Given the description of an element on the screen output the (x, y) to click on. 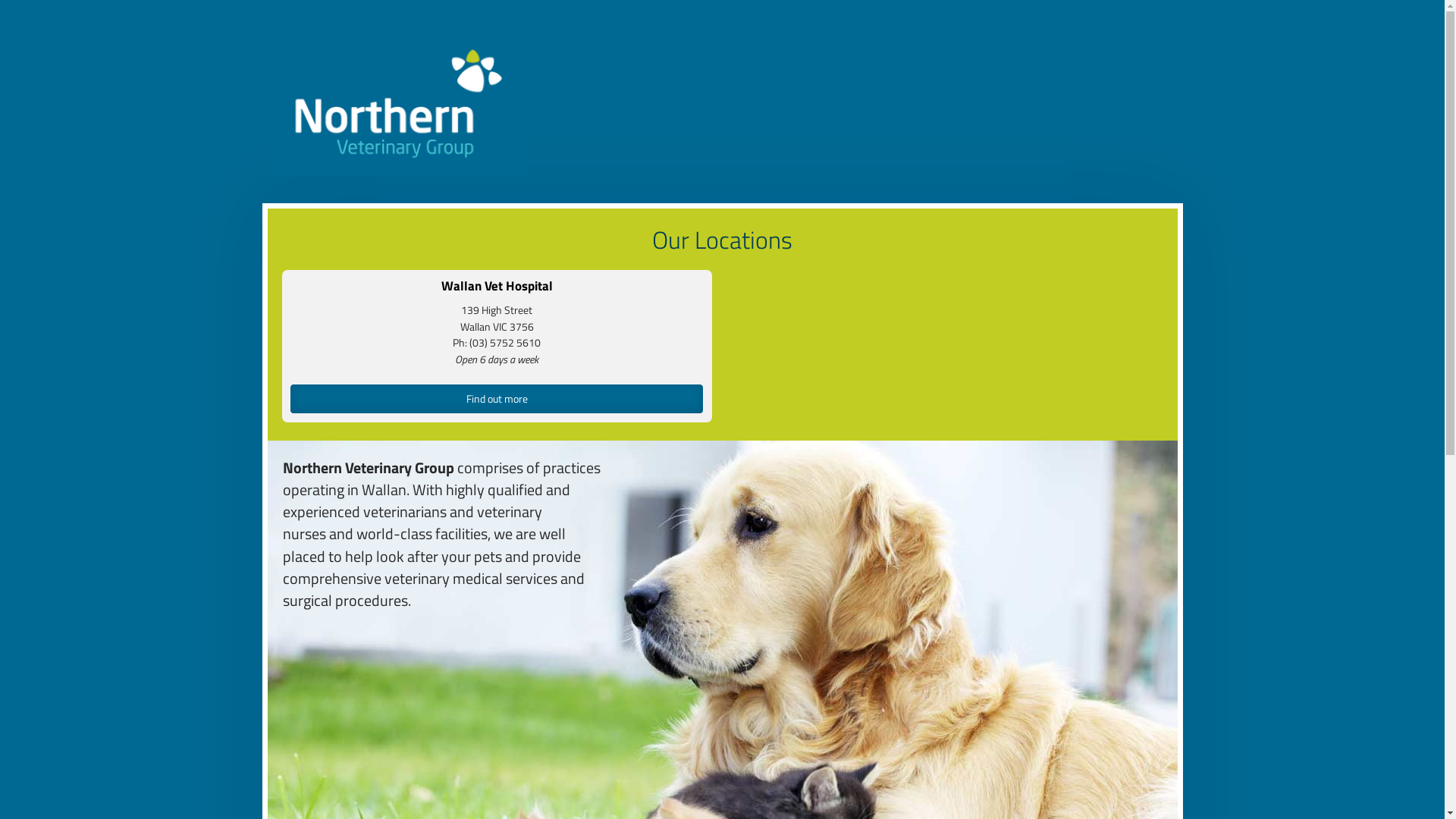
Home Element type: hover (397, 106)
Find out more Element type: text (496, 398)
